Given the description of an element on the screen output the (x, y) to click on. 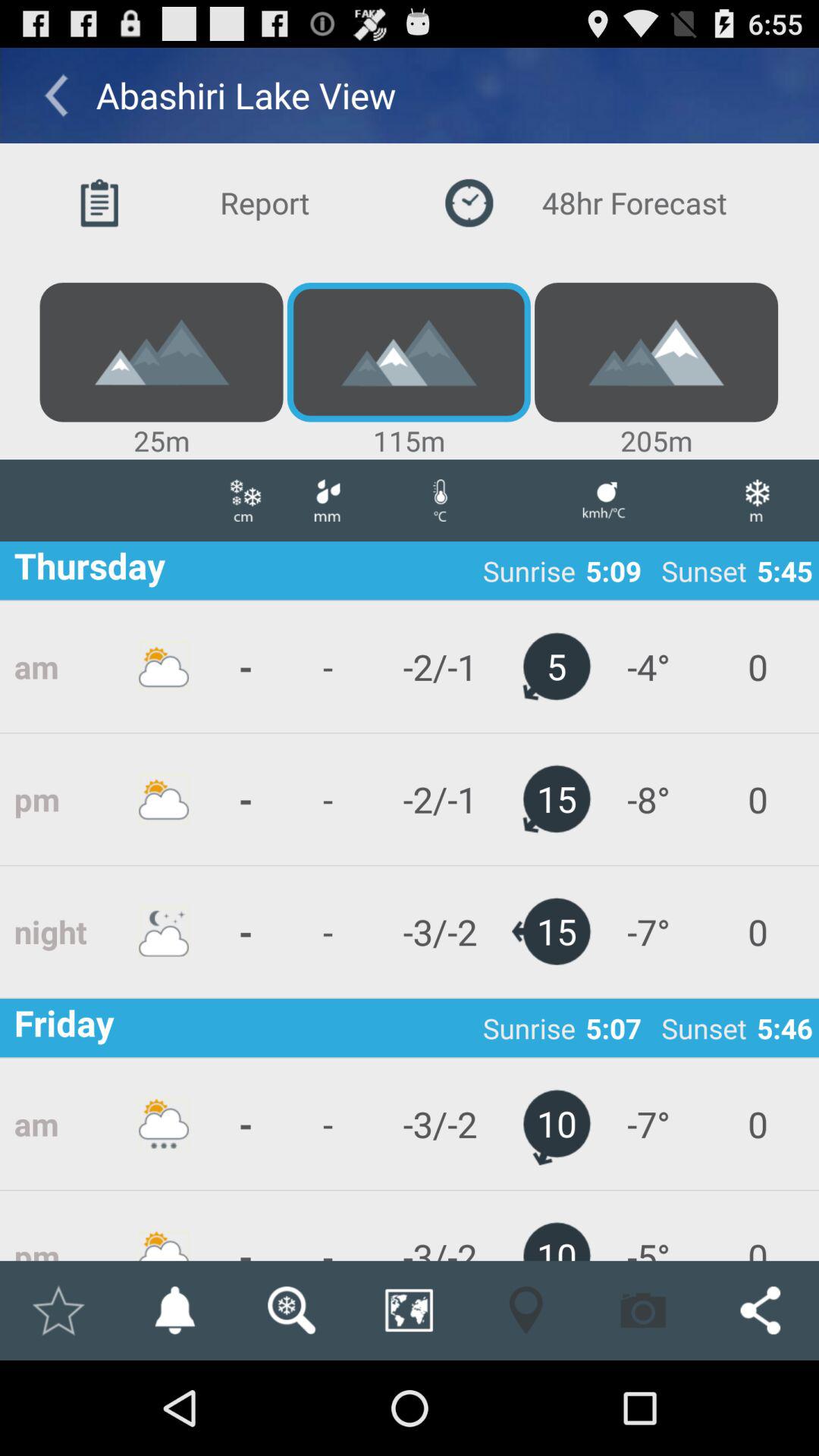
launch the - icon (245, 931)
